Given the description of an element on the screen output the (x, y) to click on. 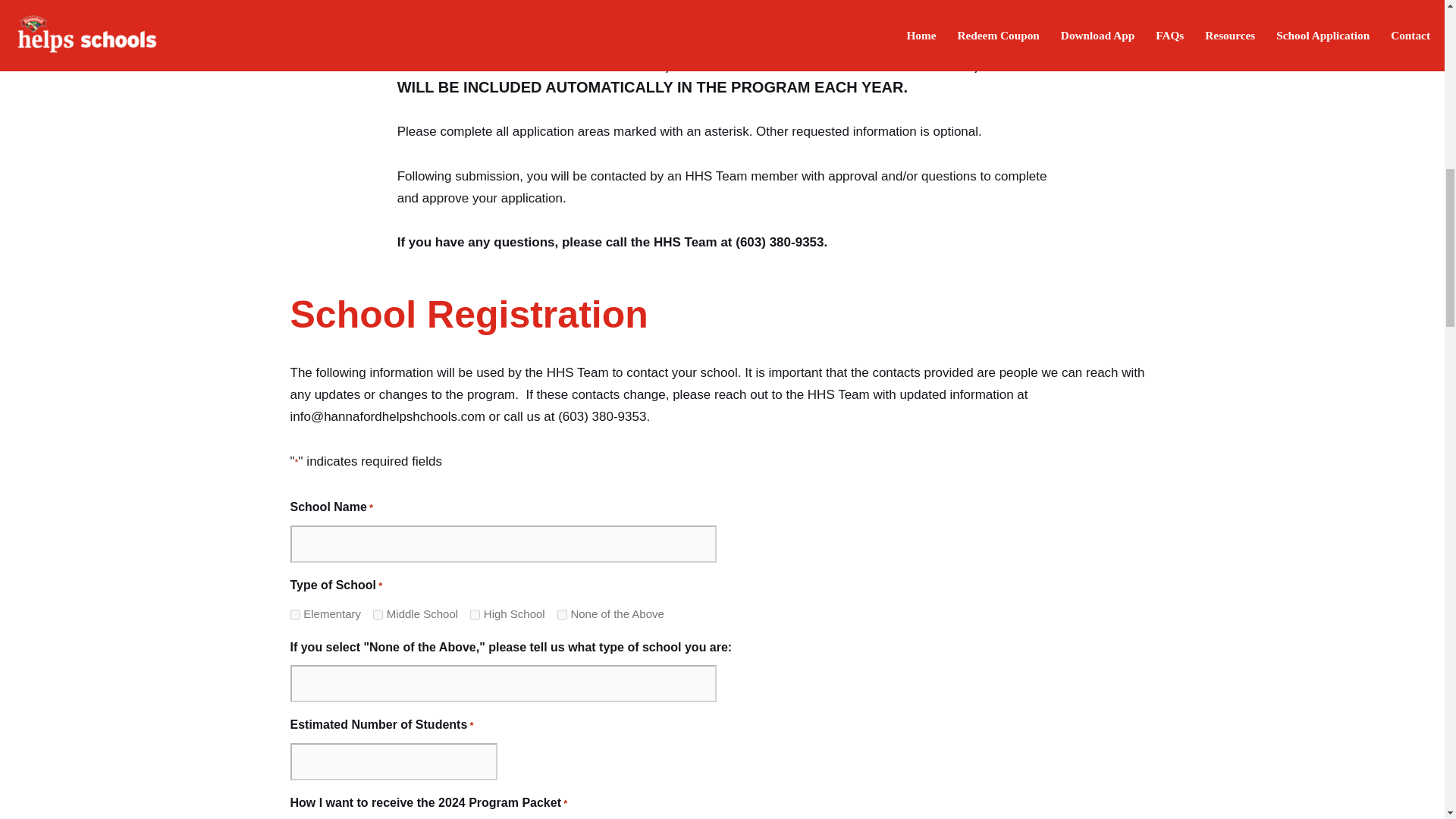
High School (475, 614)
Middle School (377, 614)
Elementary (294, 614)
None of the Above (562, 614)
